Given the description of an element on the screen output the (x, y) to click on. 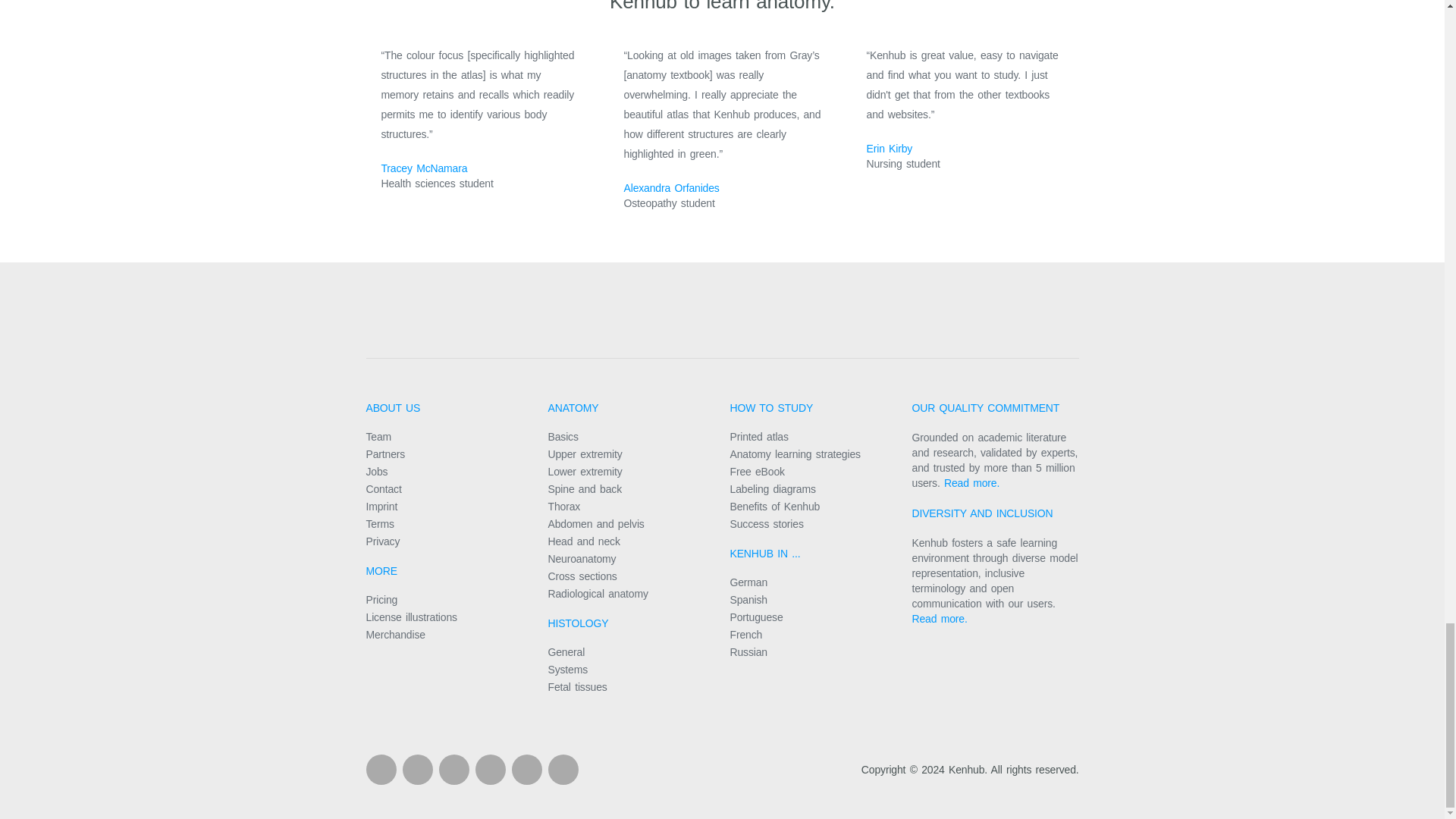
Facebook (380, 769)
Imprint (381, 506)
Privacy (381, 541)
HOW TO STUDY (770, 408)
Twitter (526, 769)
Merchandise (395, 634)
German (748, 582)
Anatomy learning strategies (794, 453)
Basics (562, 436)
Partners (384, 453)
Spine and back (584, 489)
ANATOMY (572, 408)
Radiological anatomy (597, 593)
Team (378, 436)
Cross sections (581, 576)
